Given the description of an element on the screen output the (x, y) to click on. 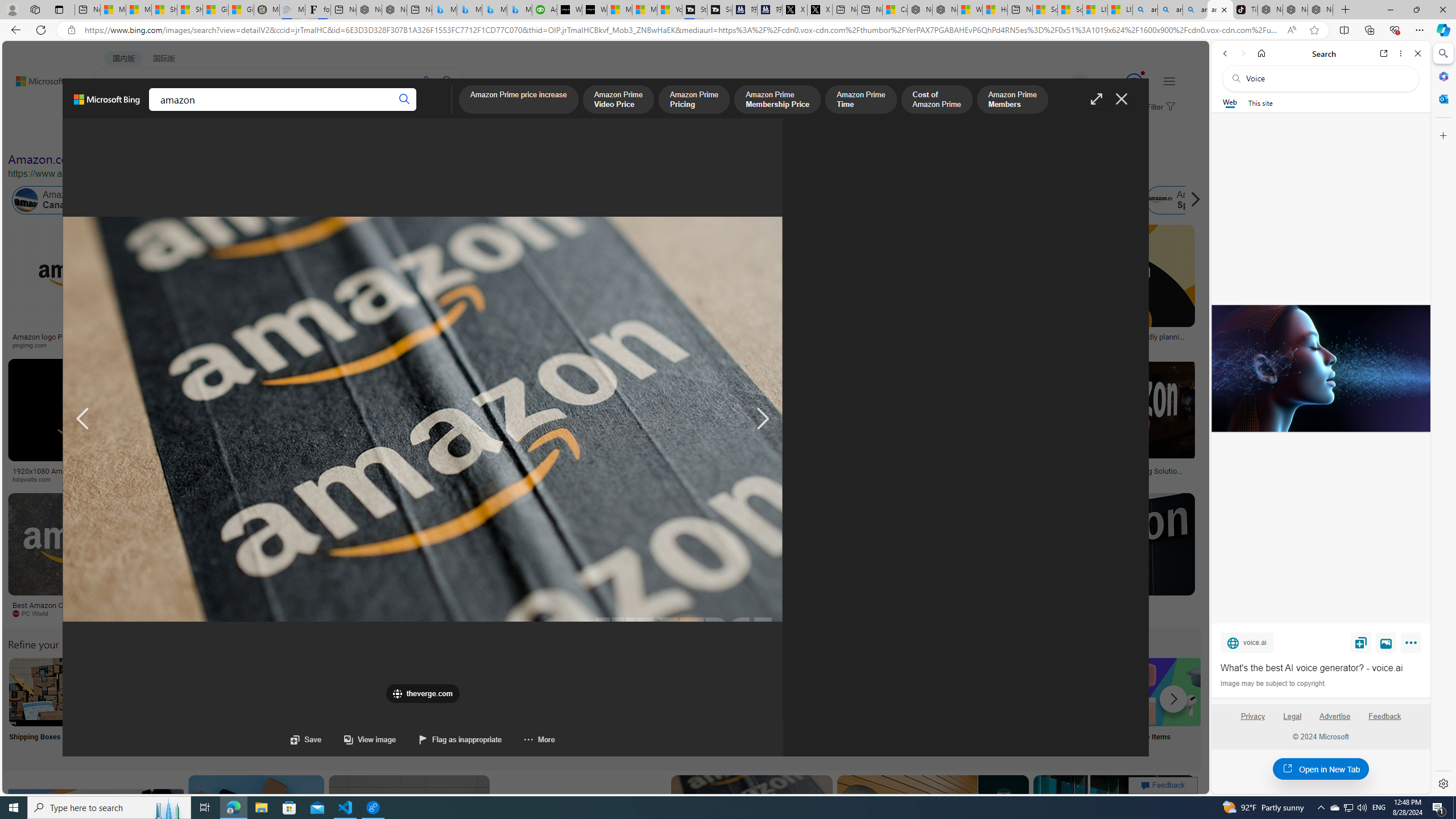
License (378, 135)
Feedback (1384, 715)
Date (336, 135)
Amazon Sale Items (1169, 691)
mytotalretail.com (180, 344)
Image size (126, 135)
Microsoft 365 (1442, 76)
Open link in new tab (1383, 53)
Amazon Retail Store Retail Store (493, 706)
